Given the description of an element on the screen output the (x, y) to click on. 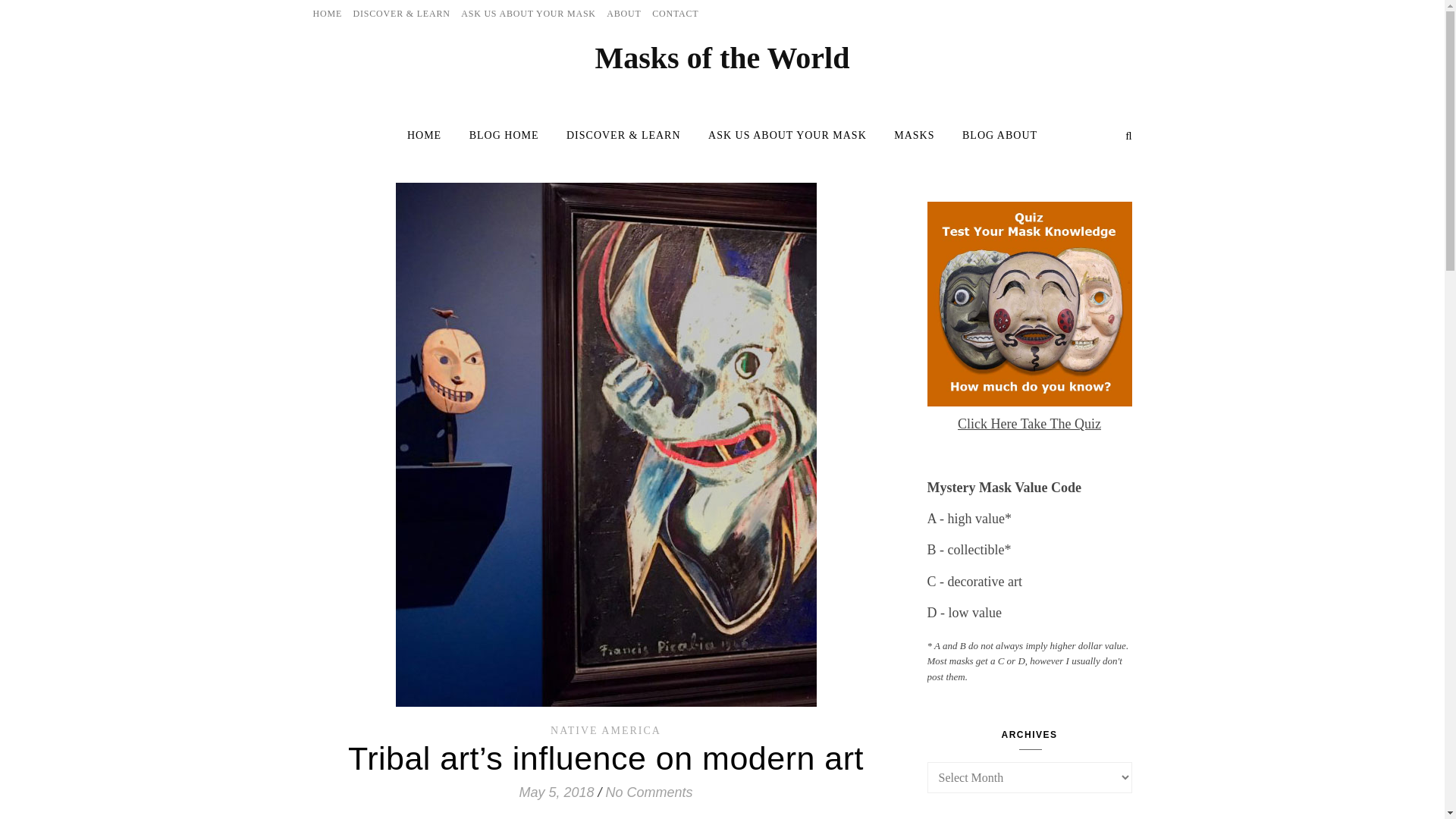
BLOG ABOUT (993, 135)
No Comments (649, 792)
CONTACT (672, 13)
HOME (429, 135)
Masks of the World (722, 58)
ABOUT (623, 13)
MASKS (914, 135)
BLOG HOME (504, 135)
ASK US ABOUT YOUR MASK (528, 13)
NATIVE AMERICA (605, 730)
